Given the description of an element on the screen output the (x, y) to click on. 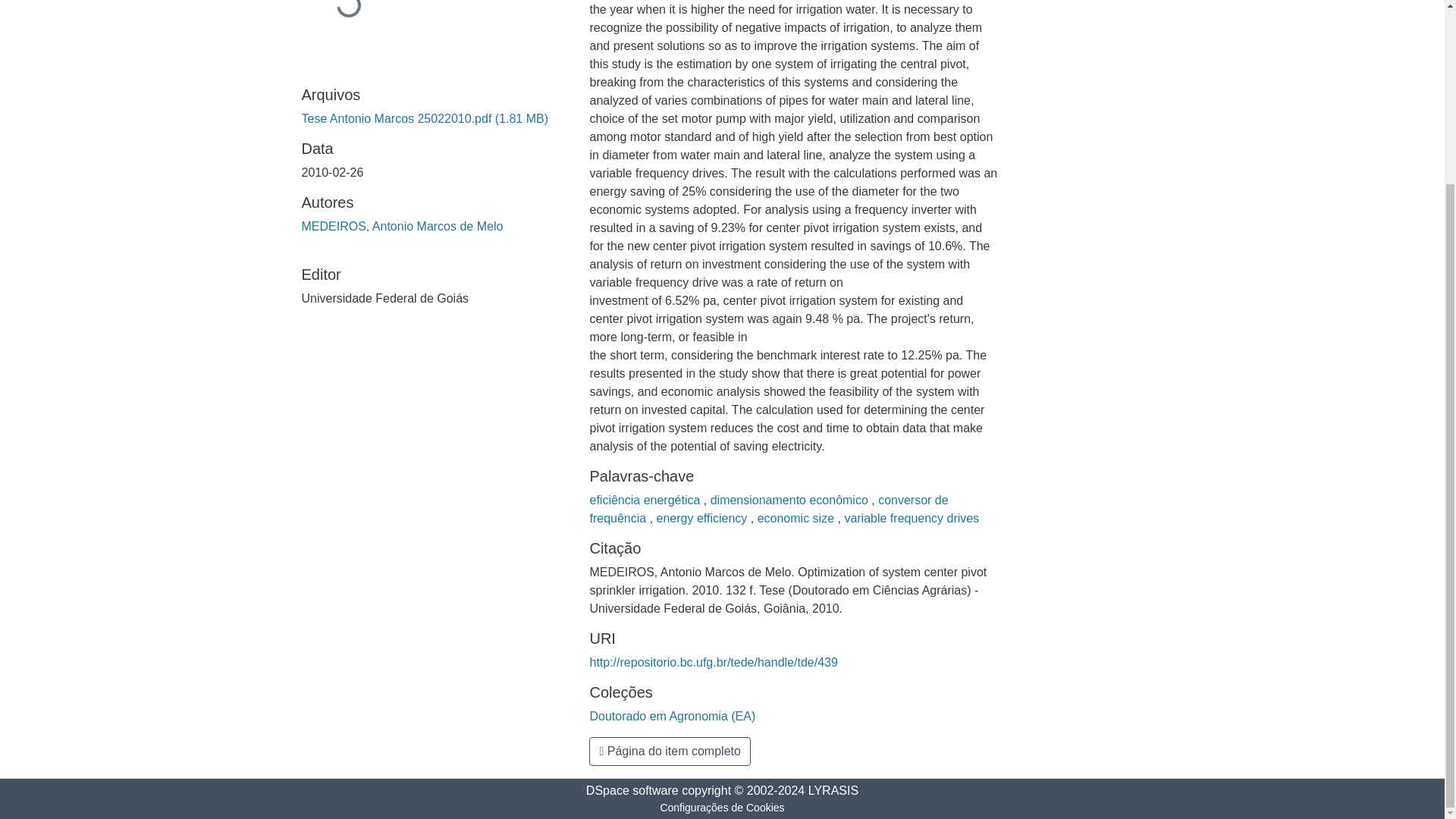
energy efficiency (703, 517)
variable frequency drives (911, 517)
MEDEIROS, Antonio Marcos de Melo (402, 226)
economic size (797, 517)
DSpace software (632, 789)
LYRASIS (833, 789)
